Given the description of an element on the screen output the (x, y) to click on. 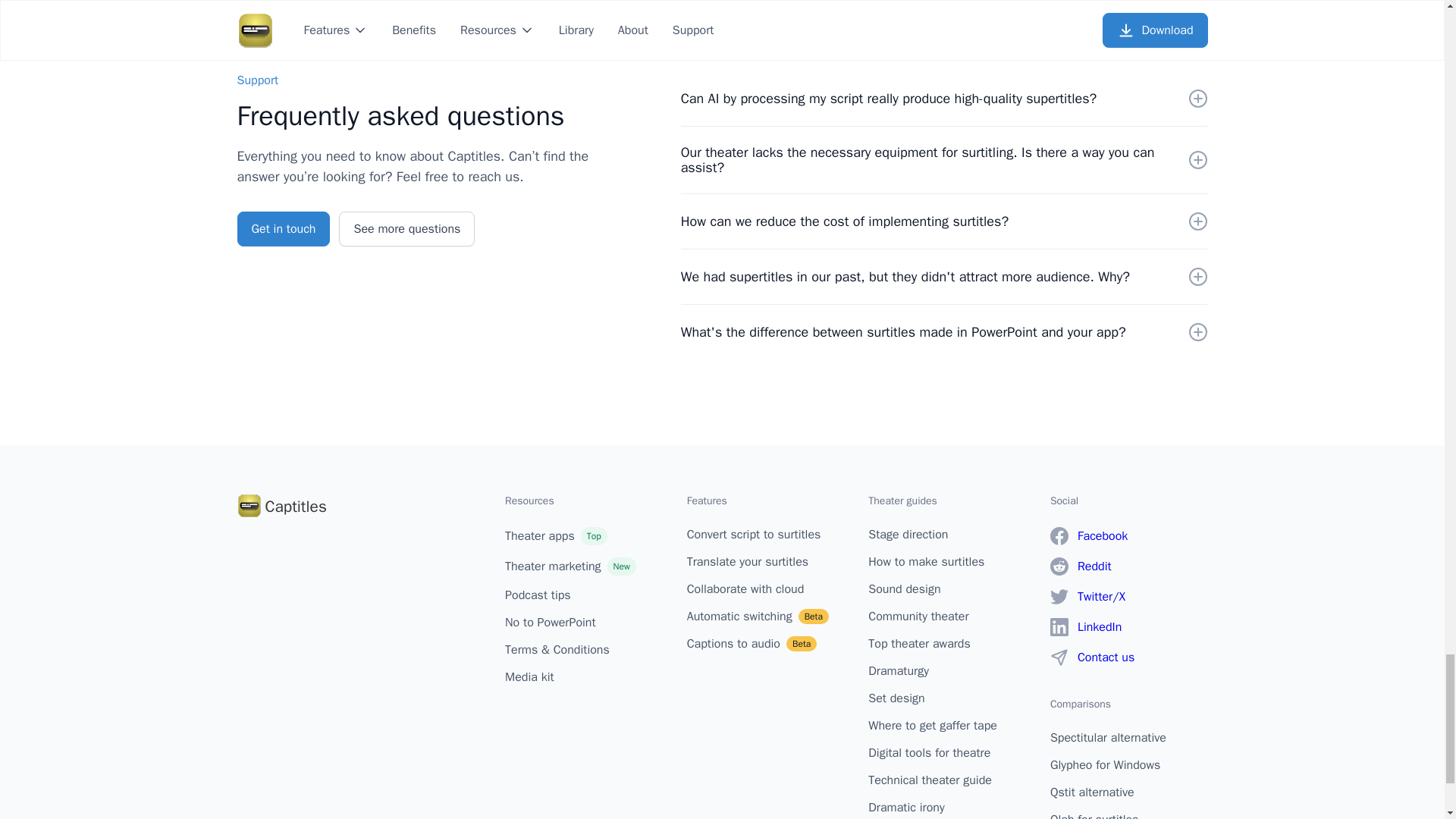
See more questions (406, 228)
Get in touch (282, 228)
